Given the description of an element on the screen output the (x, y) to click on. 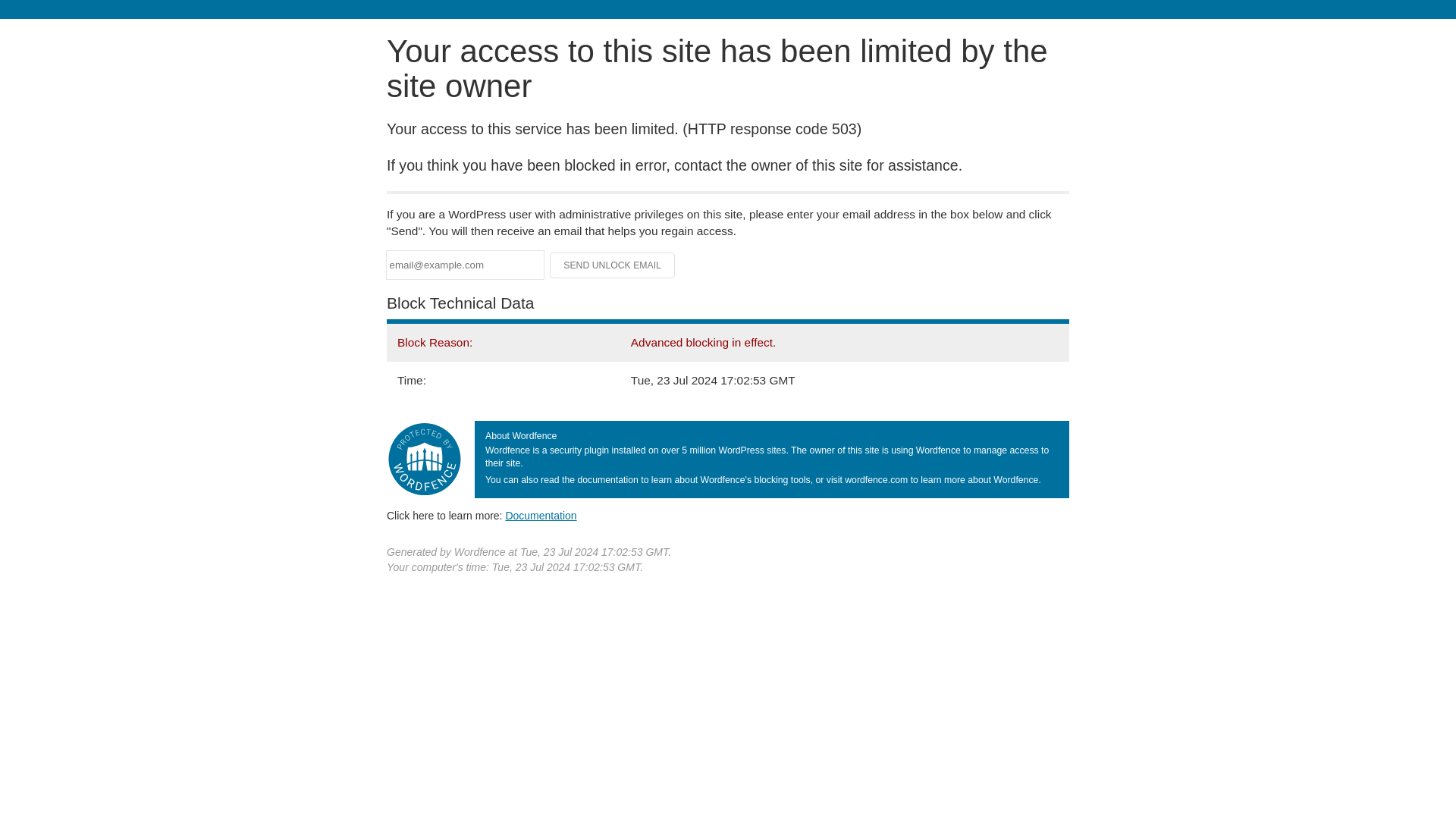
Send Unlock Email (612, 265)
Documentation (540, 515)
Send Unlock Email (612, 265)
